Given the description of an element on the screen output the (x, y) to click on. 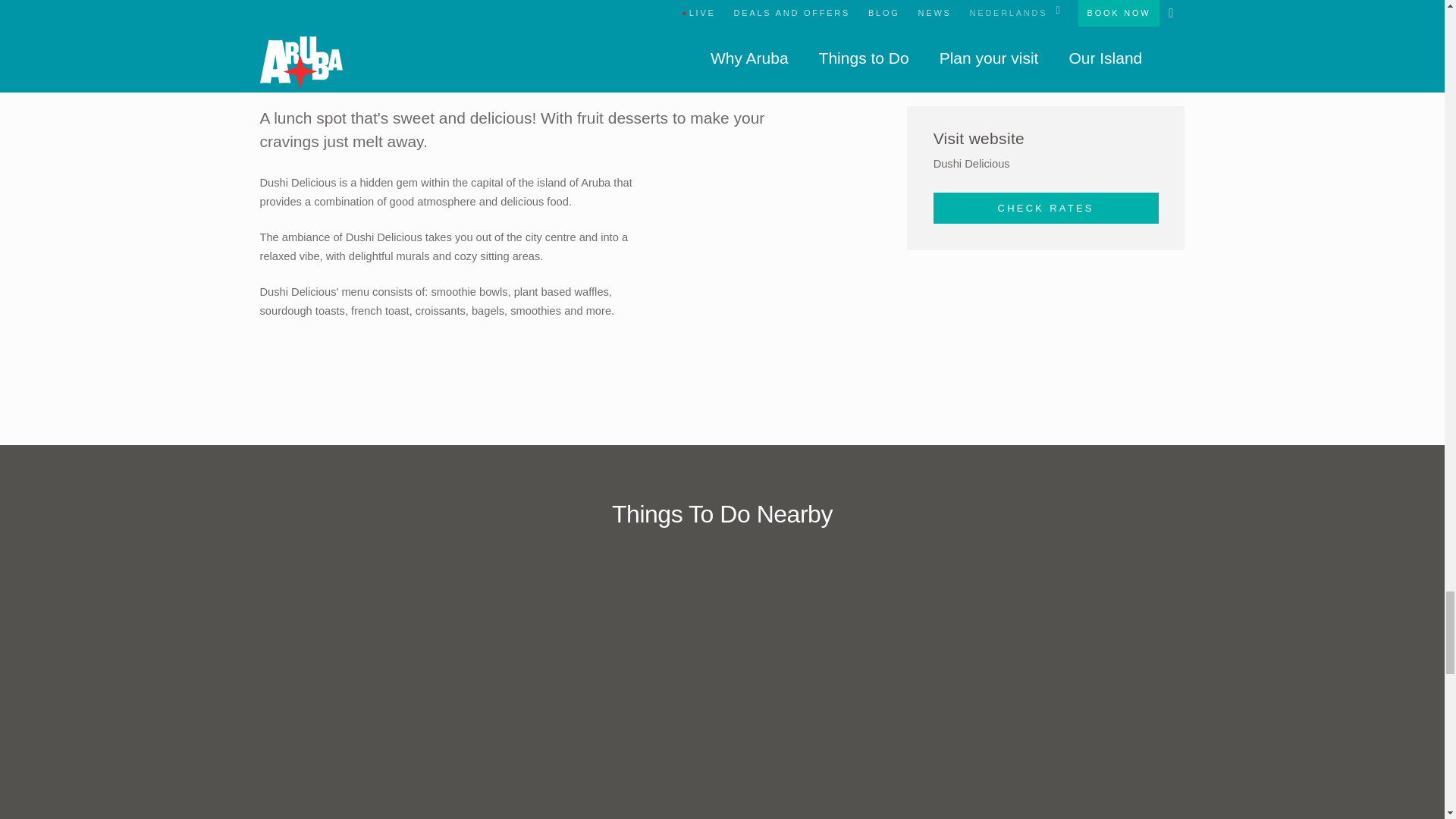
Renaissance Mall (452, 688)
Boolchand's  (722, 688)
Wind Creek Casino Aruba (991, 688)
